Given the description of an element on the screen output the (x, y) to click on. 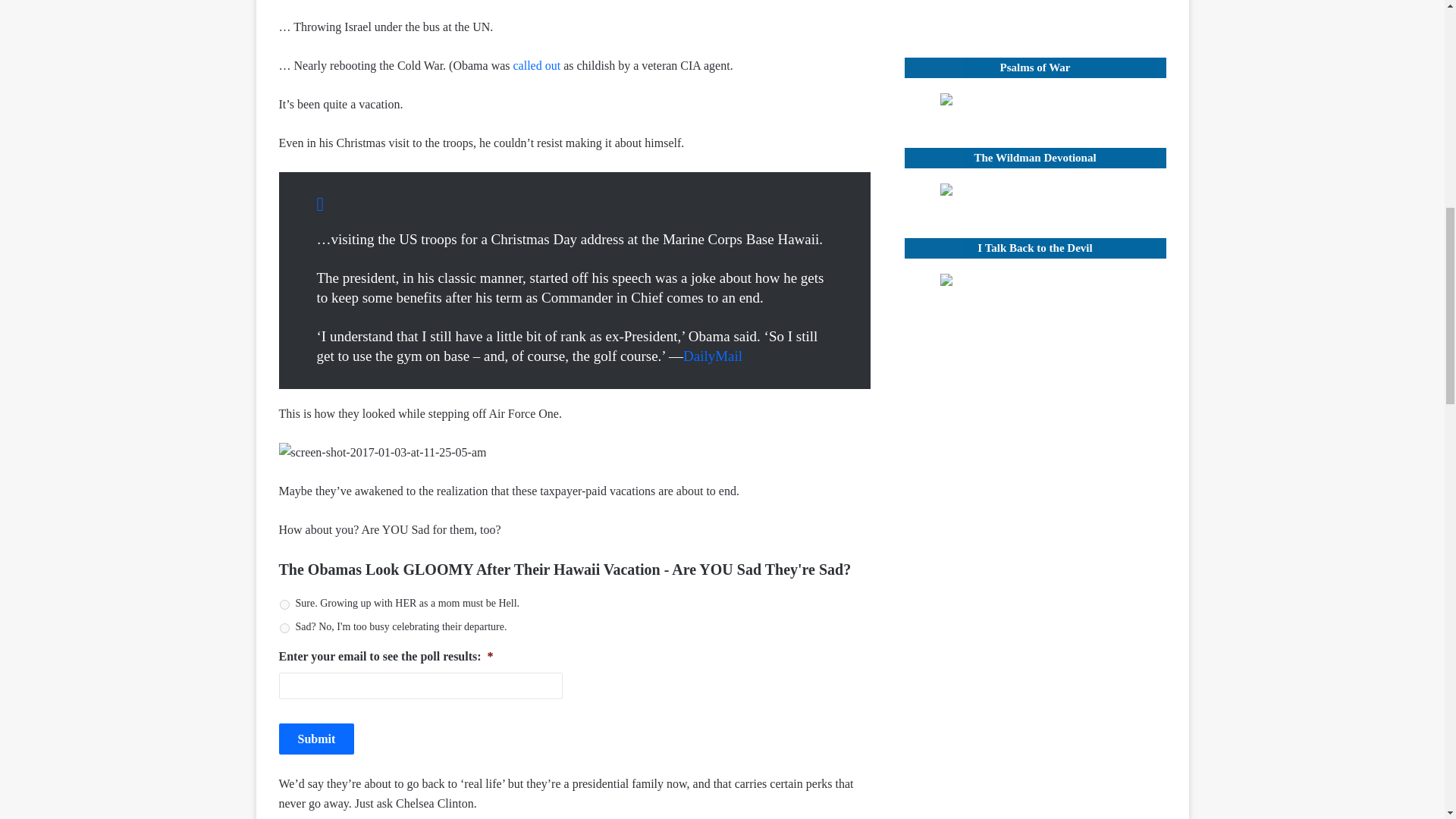
gpoll1b0b84078 (283, 628)
gpoll1324f5059 (283, 604)
Submit (317, 738)
called out (536, 65)
Submit (317, 738)
DailyMail (712, 355)
